Given the description of an element on the screen output the (x, y) to click on. 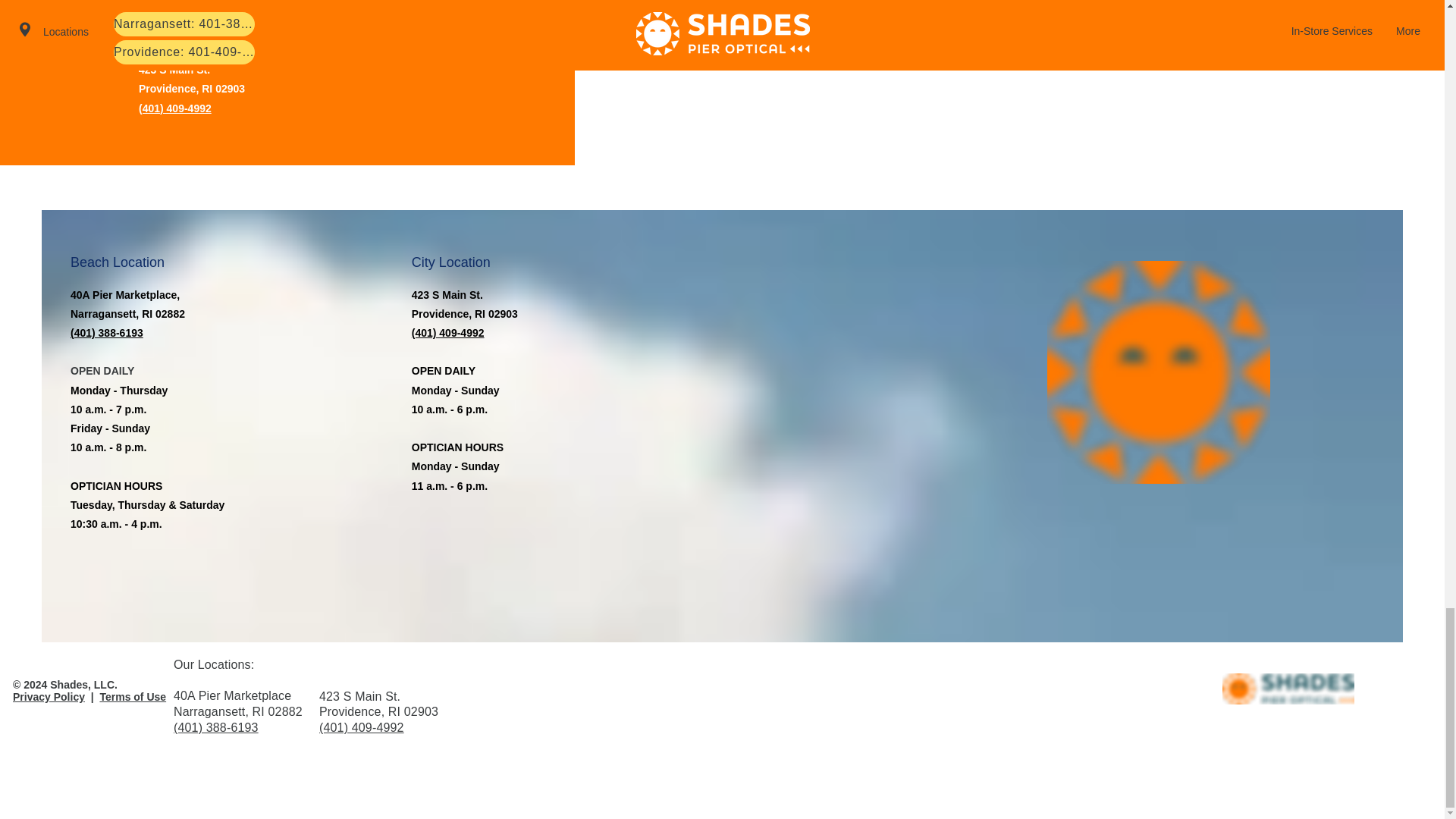
Privacy Policy (48, 696)
SPO-Logo-Horizontal-Full-Color.png (1288, 688)
Submit (867, 7)
Terms of Use (132, 696)
